Given the description of an element on the screen output the (x, y) to click on. 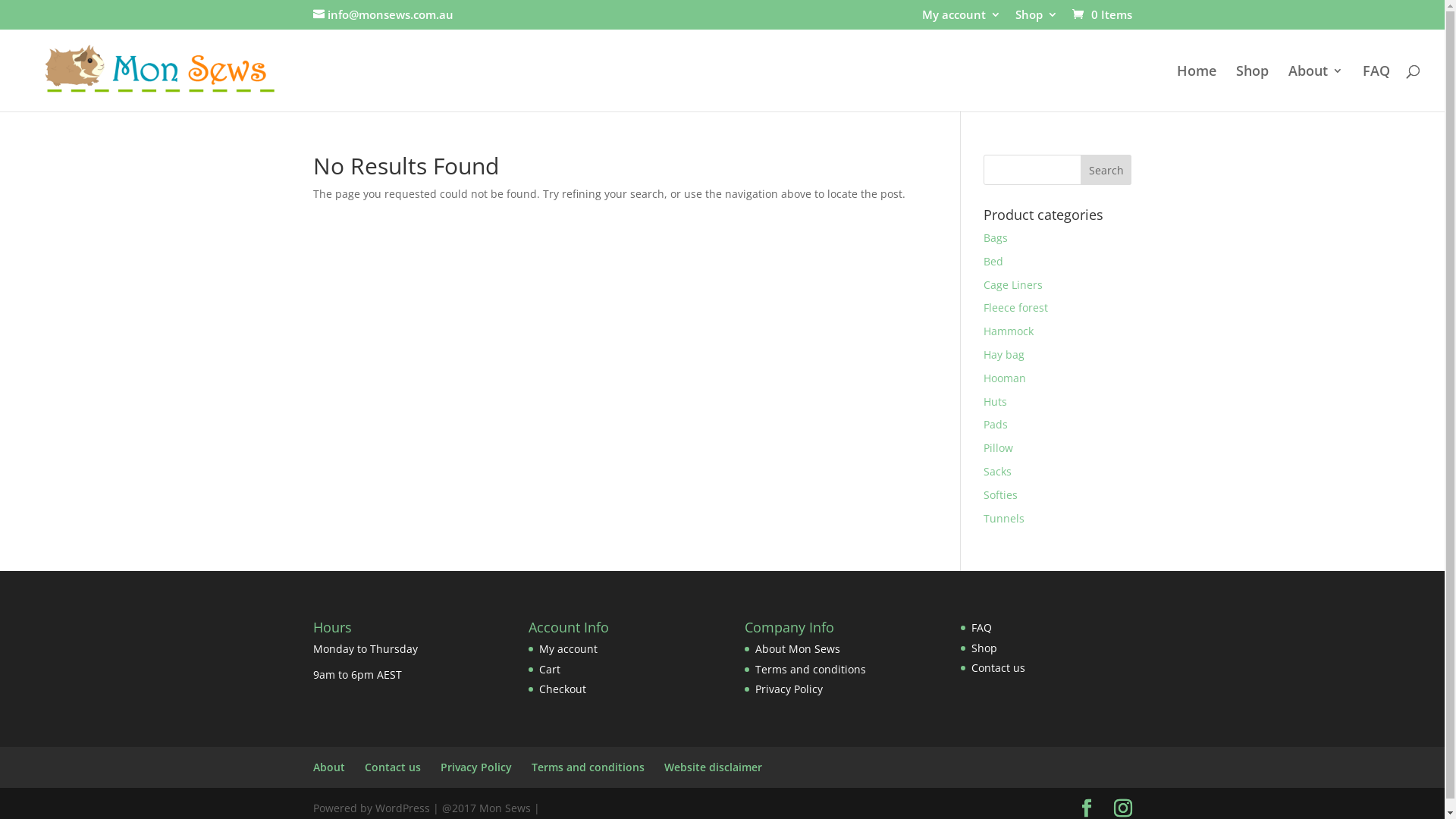
About Element type: text (1315, 88)
About Mon Sews Element type: text (797, 648)
Hammock Element type: text (1008, 330)
Bed Element type: text (993, 261)
Privacy Policy Element type: text (788, 688)
Contact us Element type: text (392, 766)
Search Element type: text (1106, 169)
Pillow Element type: text (998, 447)
Tunnels Element type: text (1003, 518)
Home Element type: text (1196, 88)
Shop Element type: text (984, 647)
Softies Element type: text (1000, 494)
About Element type: text (328, 766)
Cage Liners Element type: text (1012, 284)
FAQ Element type: text (981, 627)
Shop Element type: text (1035, 18)
My account Element type: text (568, 648)
Checkout Element type: text (562, 688)
Cart Element type: text (549, 669)
Bags Element type: text (995, 237)
Hay bag Element type: text (1003, 354)
Website disclaimer Element type: text (713, 766)
Terms and conditions Element type: text (810, 669)
Terms and conditions Element type: text (586, 766)
info@monsews.com.au Element type: text (382, 13)
Privacy Policy Element type: text (475, 766)
Pads Element type: text (995, 424)
FAQ Element type: text (1376, 88)
Huts Element type: text (995, 401)
Fleece forest Element type: text (1015, 307)
0 Items Element type: text (1100, 13)
Contact us Element type: text (998, 667)
Hooman Element type: text (1004, 377)
Shop Element type: text (1252, 88)
My account Element type: text (961, 18)
Sacks Element type: text (997, 471)
